Given the description of an element on the screen output the (x, y) to click on. 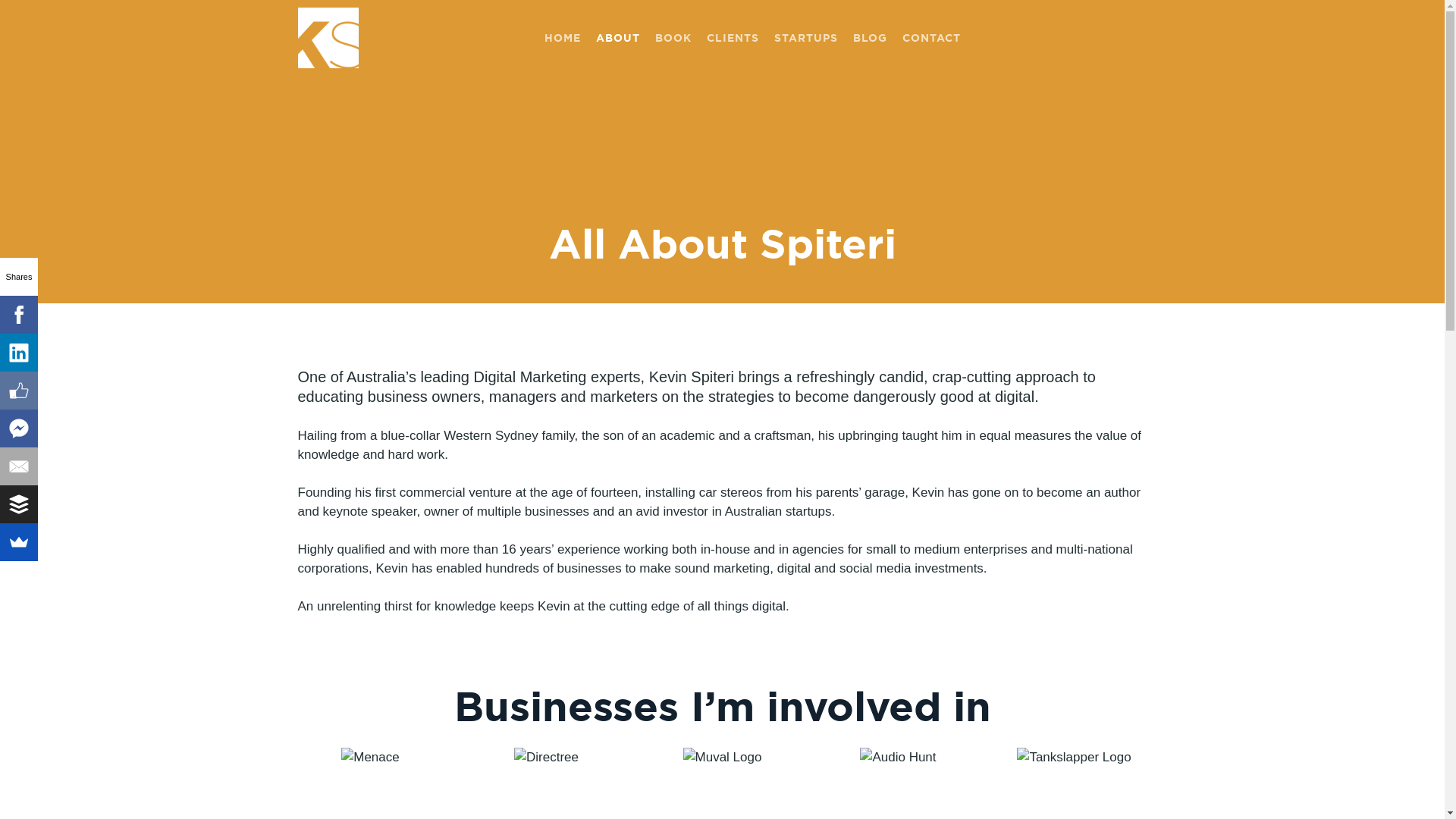
LinkedIn Element type: hover (18, 352)
BOOK Element type: text (673, 37)
Facebook Like Element type: hover (18, 390)
HOME Element type: text (562, 37)
STARTUPS Element type: text (805, 37)
BLOG Element type: text (869, 37)
Facebook Element type: hover (18, 314)
SumoMe Element type: hover (18, 542)
Facebook Send Element type: hover (18, 428)
Buffer Element type: hover (18, 504)
CLIENTS Element type: text (732, 37)
CONTACT Element type: text (931, 37)
Email Element type: hover (18, 466)
ABOUT Element type: text (617, 37)
